Given the description of an element on the screen output the (x, y) to click on. 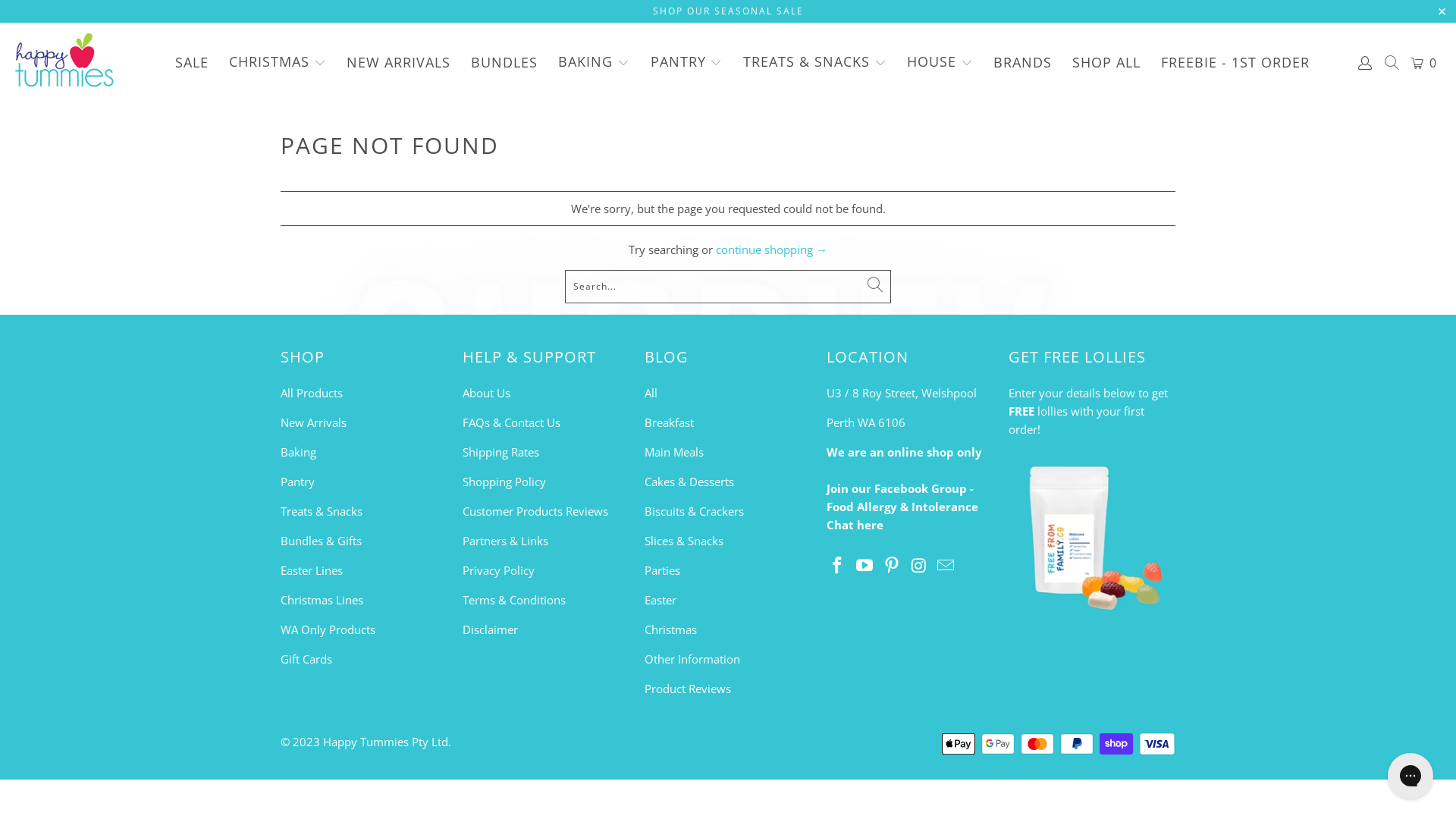
Christmas Element type: text (670, 629)
Product Reviews Element type: text (687, 688)
Search Element type: hover (1392, 64)
Happy Tummies Pty Ltd on Instagram Element type: hover (918, 565)
My Account  Element type: hover (1364, 62)
Biscuits & Crackers Element type: text (693, 510)
Breakfast Element type: text (668, 421)
Bundles & Gifts Element type: text (320, 540)
New Arrivals Element type: text (313, 421)
Privacy Policy Element type: text (498, 569)
Customer Products Reviews Element type: text (535, 510)
Parties Element type: text (662, 569)
WA Only Products Element type: text (327, 629)
Easter Element type: text (660, 599)
Happy Tummies Pty Ltd on Pinterest Element type: hover (891, 565)
Terms & Conditions Element type: text (513, 599)
Pantry Element type: text (297, 481)
0 Element type: text (1424, 62)
Baking Element type: text (298, 451)
Christmas Lines Element type: text (321, 599)
Easter Lines Element type: text (311, 569)
SALE Element type: text (191, 62)
Happy Tummies Pty Ltd Element type: hover (64, 62)
About Us Element type: text (486, 392)
Happy Tummies Pty Ltd on Facebook Element type: hover (837, 565)
Other Information Element type: text (692, 658)
Email Happy Tummies Pty Ltd Element type: hover (946, 565)
FREEBIE - 1ST ORDER Element type: text (1235, 62)
SHOP ALL Element type: text (1106, 62)
Shopping Policy Element type: text (504, 481)
Happy Tummies Pty Ltd Element type: text (385, 741)
BUNDLES Element type: text (503, 62)
All Element type: text (650, 392)
Disclaimer Element type: text (489, 629)
Main Meals Element type: text (673, 451)
Gorgias live chat messenger Element type: hover (1410, 775)
Slices & Snacks Element type: text (683, 540)
Gift Cards Element type: text (306, 658)
All Products Element type: text (311, 392)
Cakes & Desserts Element type: text (689, 481)
FAQs & Contact Us Element type: text (511, 421)
Partners & Links Element type: text (505, 540)
Happy Tummies Pty Ltd on YouTube Element type: hover (864, 565)
Shipping Rates Element type: text (500, 451)
NEW ARRIVALS Element type: text (398, 62)
BRANDS Element type: text (1022, 62)
Treats & Snacks Element type: text (321, 510)
